Given the description of an element on the screen output the (x, y) to click on. 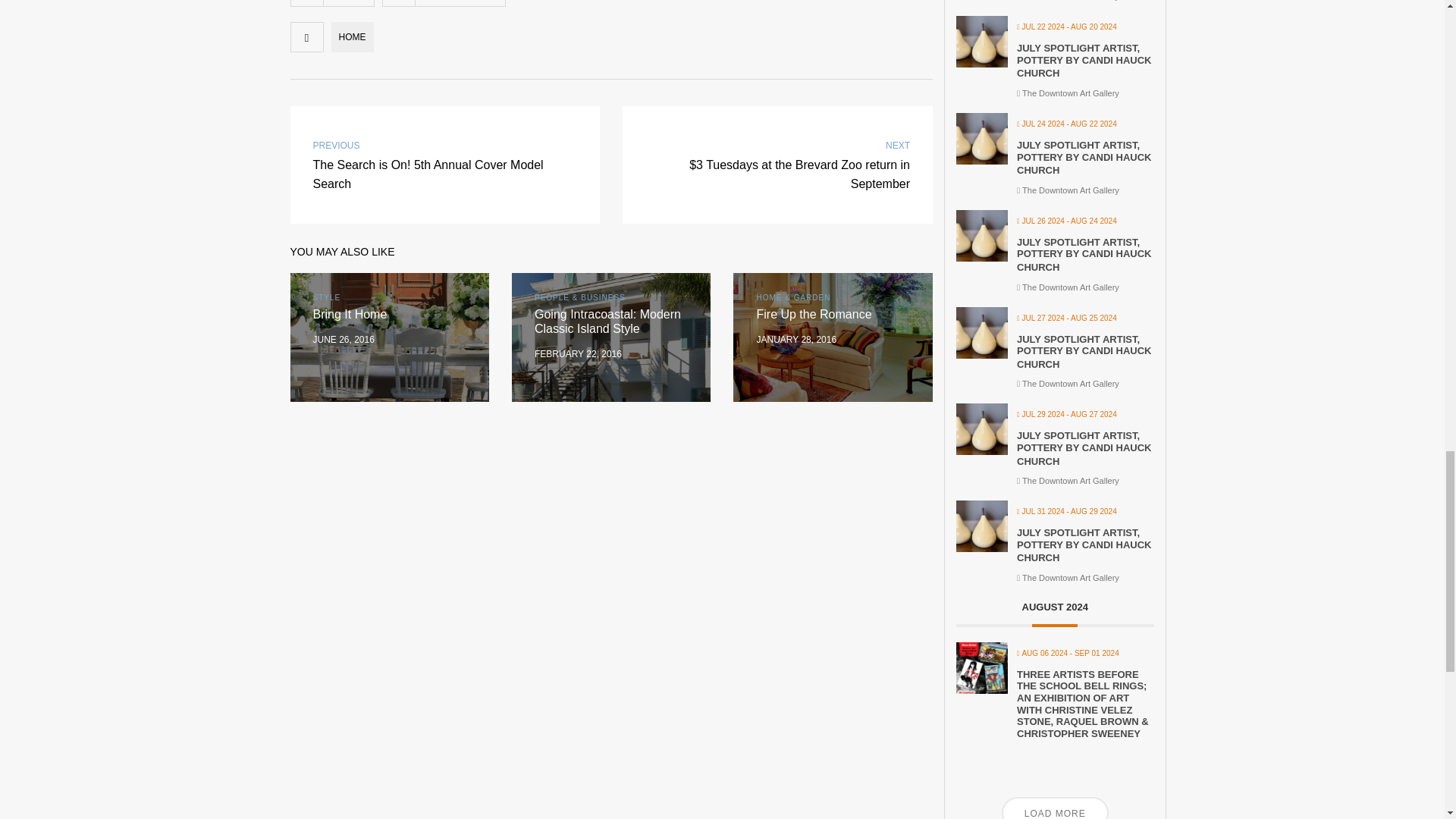
Share this (426, 2)
Post views (348, 2)
Pin this (494, 2)
Share with Google Plus (471, 2)
Tweet this (449, 2)
Post views (306, 2)
